Given the description of an element on the screen output the (x, y) to click on. 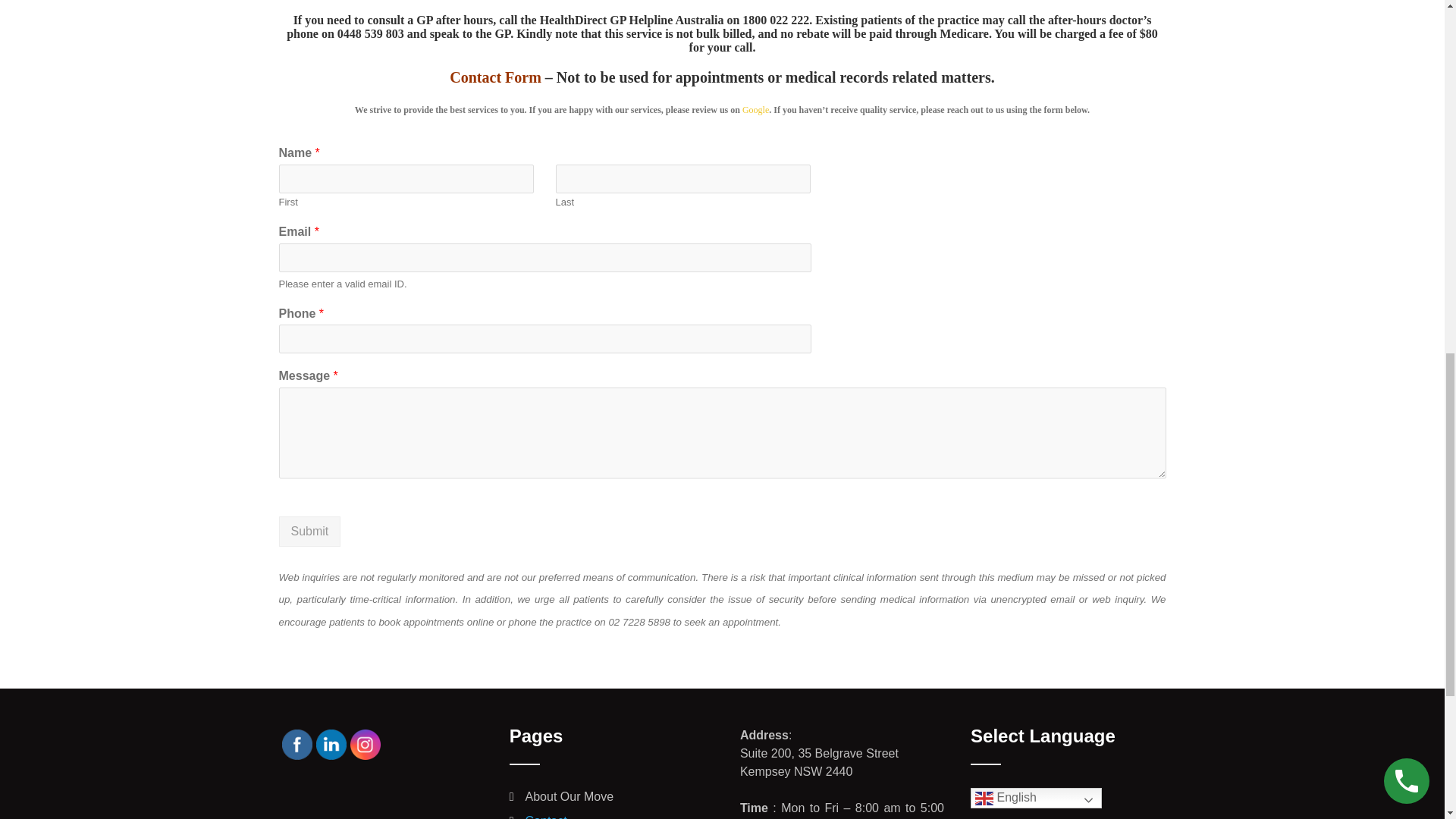
LinkedIn (330, 744)
Contact (546, 816)
Facebook (297, 744)
Submit (309, 531)
English (1036, 797)
Google (755, 109)
About Our Move (569, 796)
Instagram (365, 744)
